Given the description of an element on the screen output the (x, y) to click on. 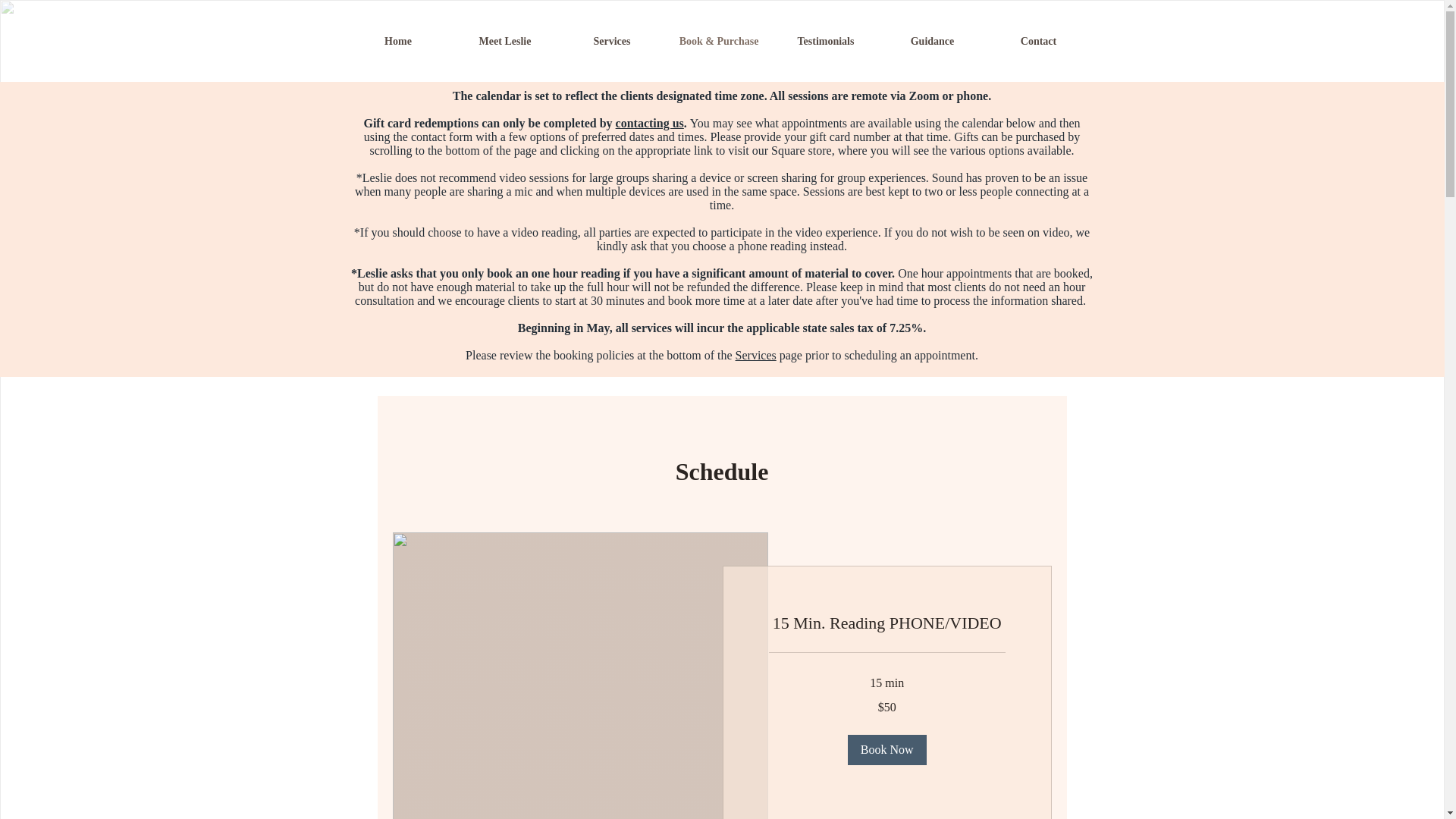
Testimonials (825, 41)
Meet Leslie (505, 41)
Home (397, 41)
Services (611, 41)
Book Now (886, 749)
Services (755, 354)
contacting us (649, 123)
Contact (1038, 41)
Guidance (932, 41)
